Given the description of an element on the screen output the (x, y) to click on. 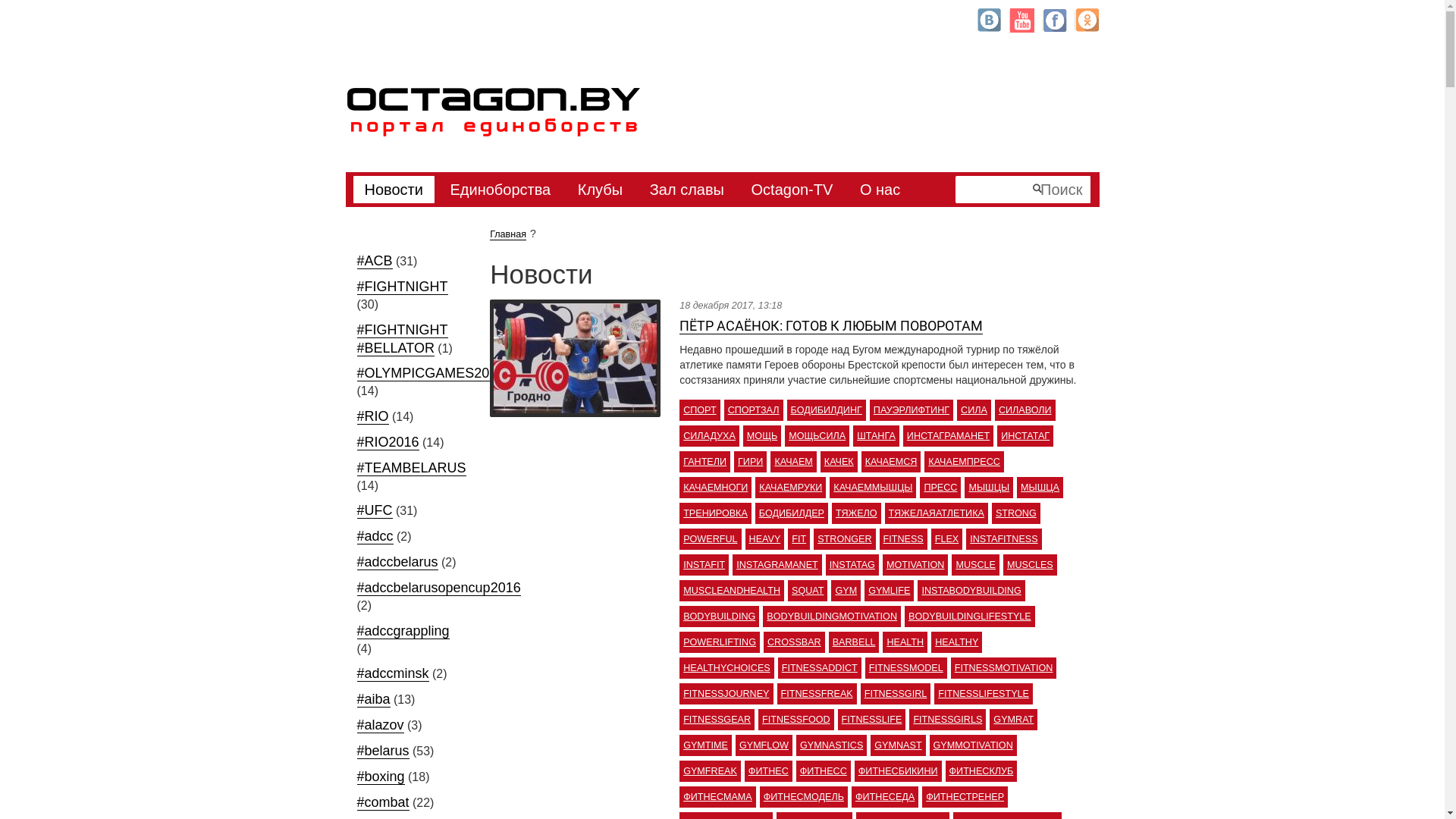
#adccbelarus Element type: text (396, 562)
GYMFREAK Element type: text (709, 770)
BARBELL Element type: text (853, 641)
#FIGHTNIGHT #BELLATOR Element type: text (401, 339)
GYMLIFE Element type: text (888, 590)
BODYBUILDINGMOTIVATION Element type: text (831, 616)
STRONGER Element type: text (844, 538)
BODYBUILDING Element type: text (719, 616)
INSTAFIT Element type: text (703, 564)
GYMRAT Element type: text (1013, 719)
HEALTHY Element type: text (956, 641)
#combat Element type: text (382, 802)
#alazov Element type: text (379, 725)
#aiba Element type: text (372, 699)
FITNESSFREAK Element type: text (816, 693)
FIT Element type: text (798, 538)
#adccbelarusopencup2016 Element type: text (438, 588)
GYMMOTIVATION Element type: text (972, 745)
#adcc Element type: text (374, 536)
HEAVY Element type: text (764, 538)
FITNESSLIFE Element type: text (871, 719)
FLEX Element type: text (947, 538)
FITNESSFOOD Element type: text (796, 719)
FITNESSJOURNEY Element type: text (725, 693)
#TEAMBELARUS Element type: text (410, 468)
INSTAGRAMANET Element type: text (777, 564)
POWERFUL Element type: text (709, 538)
#boxing Element type: text (380, 776)
INSTATAG Element type: text (851, 564)
GYMNAST Element type: text (897, 745)
GYMNASTICS Element type: text (831, 745)
SQUAT Element type: text (807, 590)
FITNESSLIFESTYLE Element type: text (983, 693)
FITNESSGIRL Element type: text (895, 693)
FITNESSGEAR Element type: text (716, 719)
#RIO2016 Element type: text (387, 442)
MOTIVATION Element type: text (915, 564)
GYMTIME Element type: text (705, 745)
GYMFLOW Element type: text (763, 745)
FITNESS Element type: text (903, 538)
STRONG Element type: text (1015, 513)
Octagon-TV Element type: text (792, 189)
#adccgrappling Element type: text (402, 631)
HEALTHYCHOICES Element type: text (726, 667)
FITNESSGIRLS Element type: text (947, 719)
FITNESSMOTIVATION Element type: text (1003, 667)
FITNESSADDICT Element type: text (819, 667)
#adccminsk Element type: text (392, 673)
POWERLIFTING Element type: text (719, 641)
HEALTH Element type: text (904, 641)
MUSCLES Element type: text (1030, 564)
#FIGHTNIGHT Element type: text (401, 286)
#belarus Element type: text (382, 751)
MUSCLE Element type: text (974, 564)
BODYBUILDINGLIFESTYLE Element type: text (969, 616)
CROSSBAR Element type: text (794, 641)
INSTABODYBUILDING Element type: text (970, 590)
#OLYMPICGAMES2016 Element type: text (430, 373)
#UFC Element type: text (374, 510)
MUSCLEANDHEALTH Element type: text (731, 590)
INSTAFITNESS Element type: text (1003, 538)
#RIO Element type: text (372, 416)
FITNESSMODEL Element type: text (906, 667)
GYM Element type: text (845, 590)
#ACB Element type: text (374, 261)
